Given the description of an element on the screen output the (x, y) to click on. 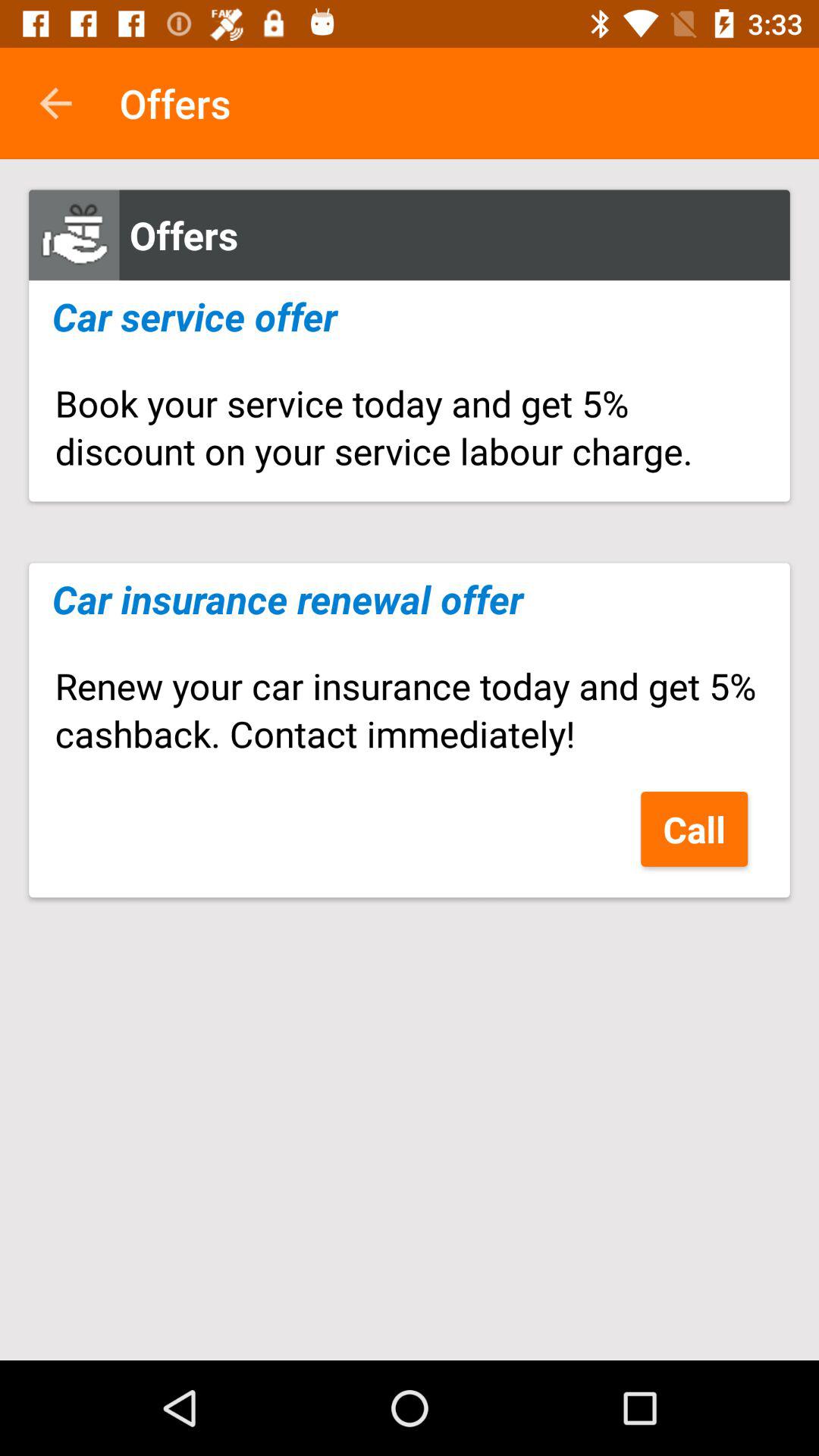
press the icon to the left of offers (55, 103)
